Given the description of an element on the screen output the (x, y) to click on. 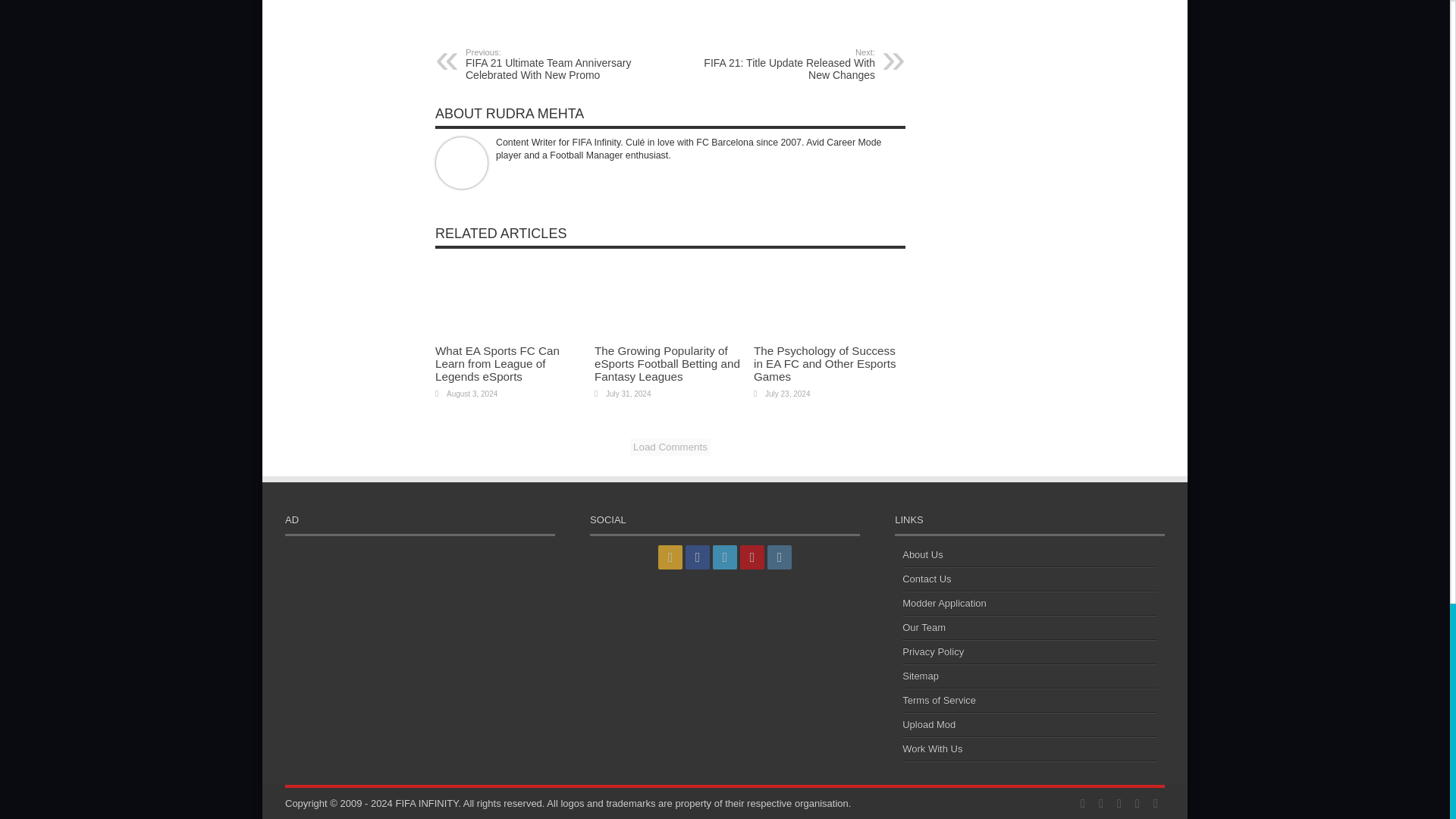
The Psychology of Success in EA FC and Other Esports Games (825, 363)
What EA Sports FC Can Learn from League of Legends eSports (781, 63)
Pin It (497, 363)
